Given the description of an element on the screen output the (x, y) to click on. 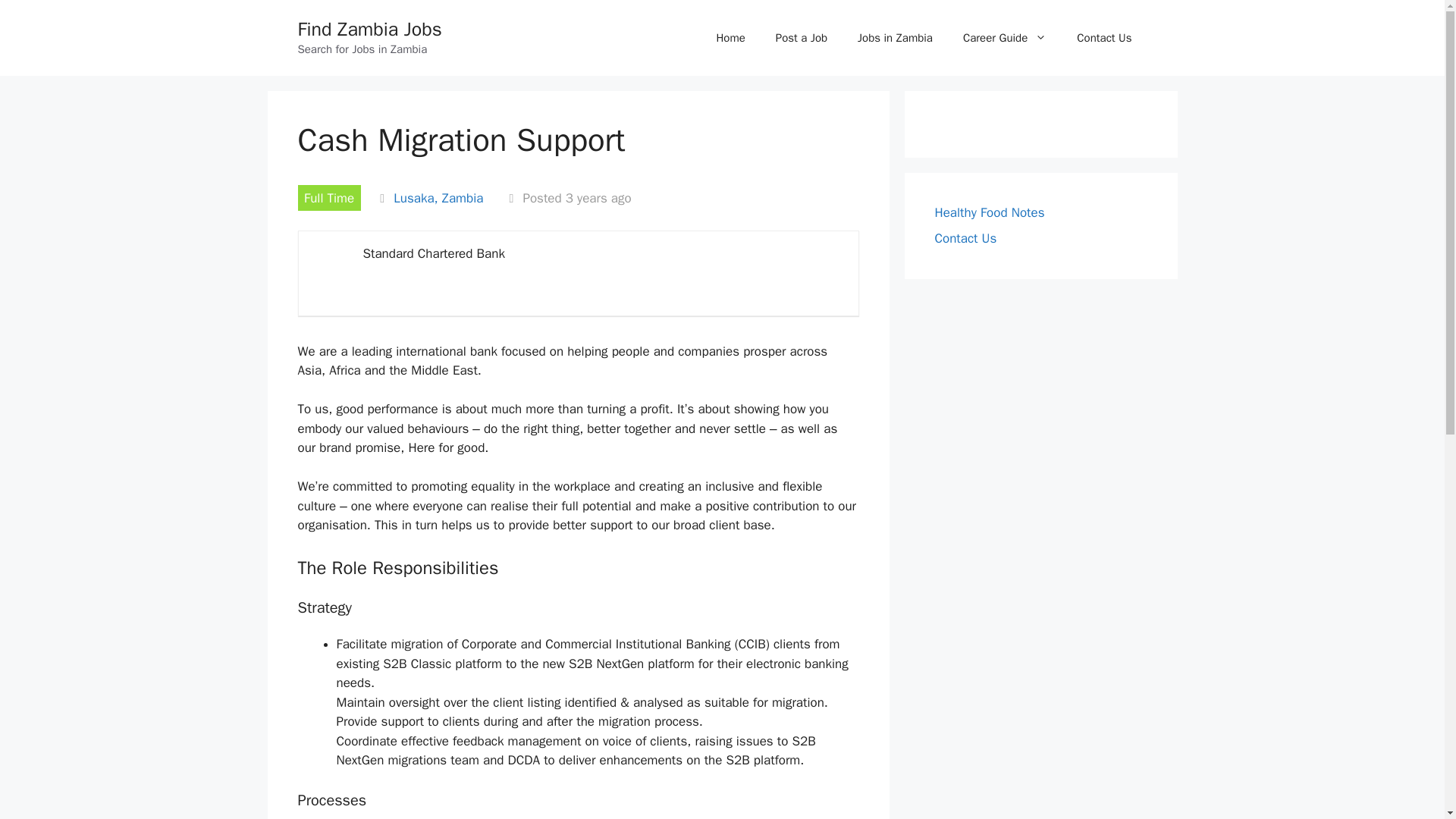
Contact Us (964, 238)
Career Guide (1004, 37)
Jobs in Zambia (895, 37)
Healthy Food Notes (988, 212)
Post a Job (801, 37)
Lusaka, Zambia (438, 198)
Find Zambia Jobs (369, 28)
Contact Us (1104, 37)
Home (730, 37)
